Given the description of an element on the screen output the (x, y) to click on. 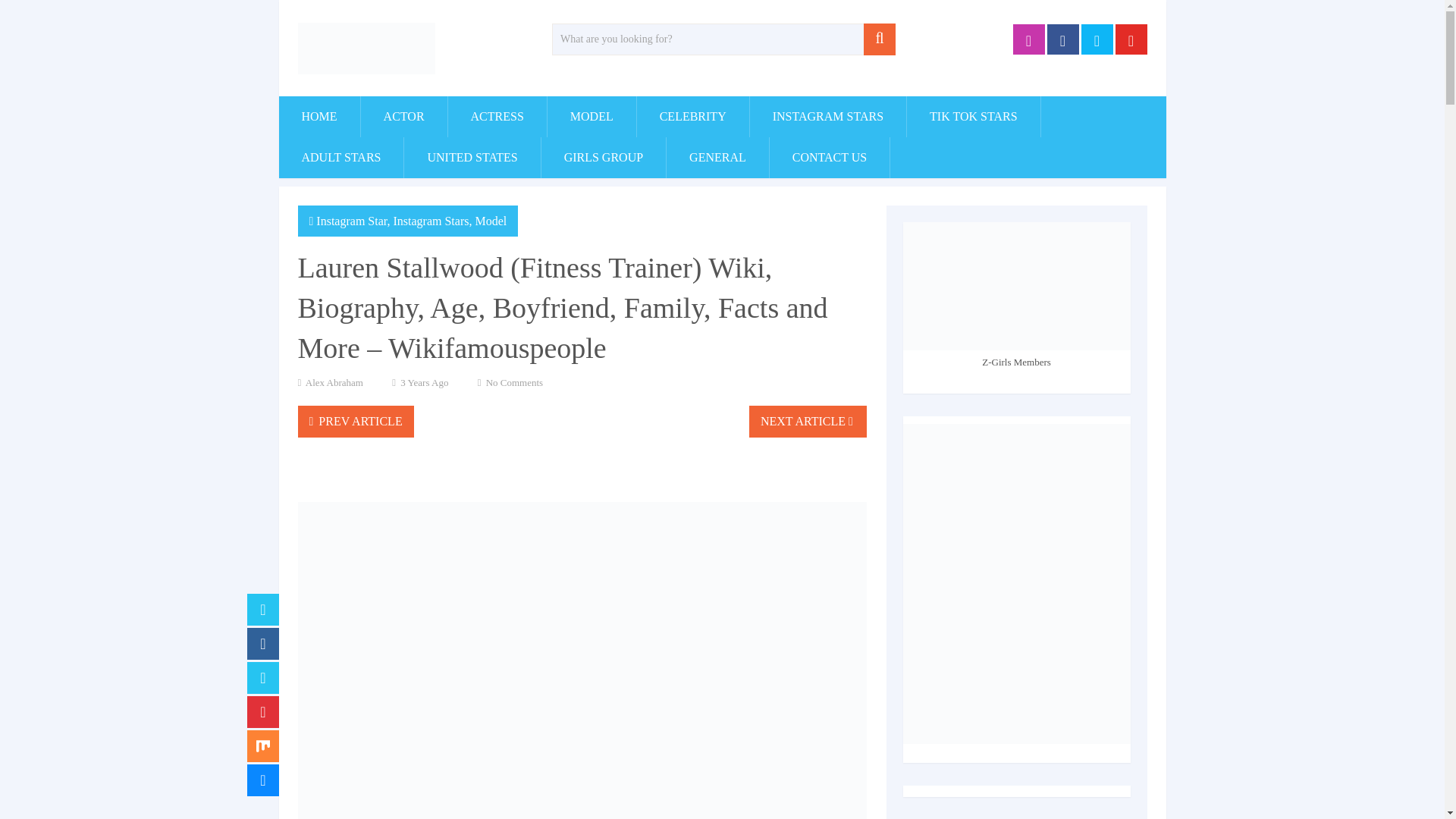
GIRLS GROUP (603, 157)
INSTAGRAM STARS (827, 116)
View all posts in Model (490, 220)
ADULT STARS (341, 157)
HOME (319, 116)
NEXT ARTICLE (807, 421)
No Comments (514, 382)
Alex Abraham (333, 382)
Instagram Star (351, 220)
ACTOR (403, 116)
